Given the description of an element on the screen output the (x, y) to click on. 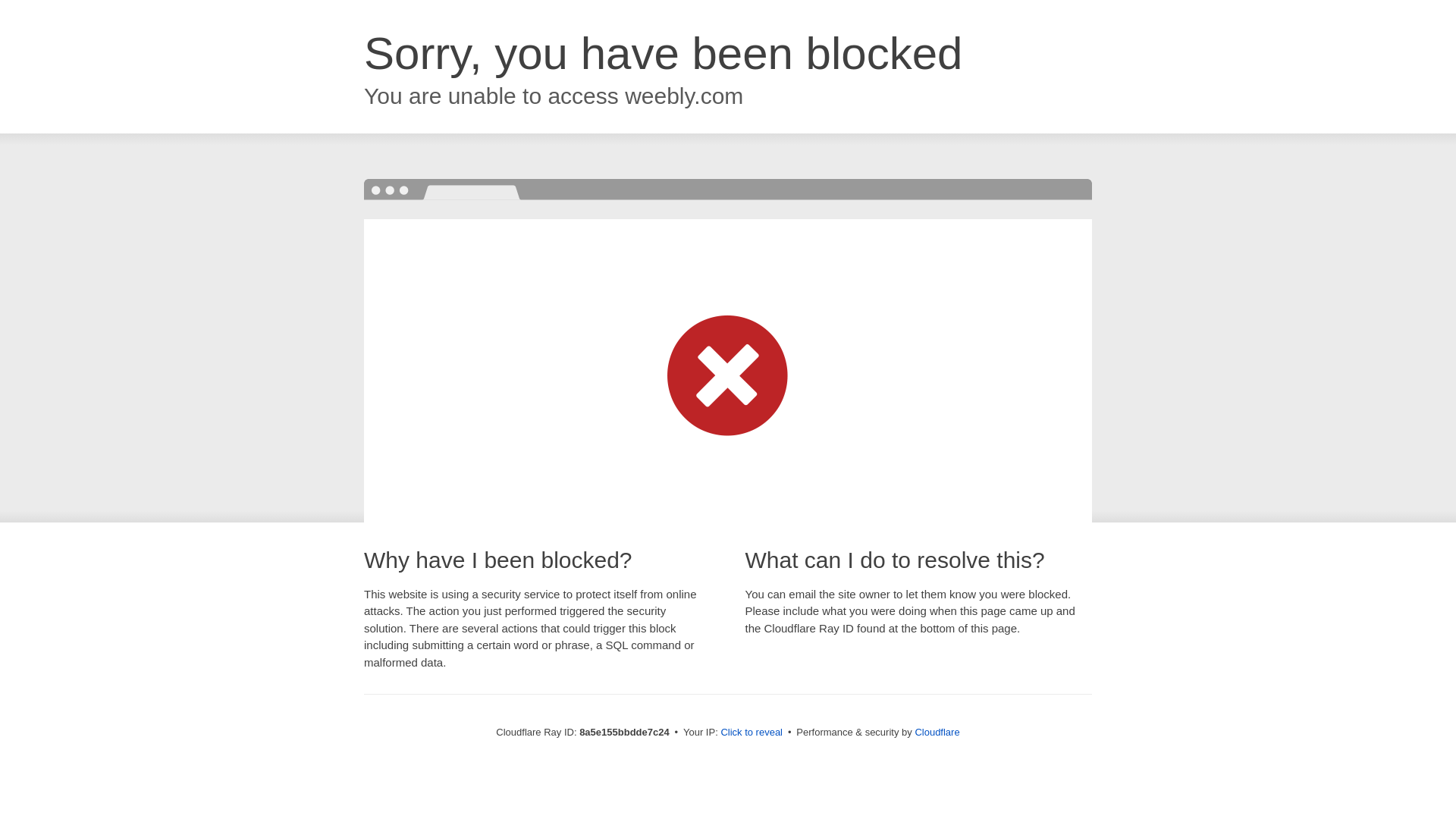
Click to reveal (751, 732)
Cloudflare (936, 731)
